Given the description of an element on the screen output the (x, y) to click on. 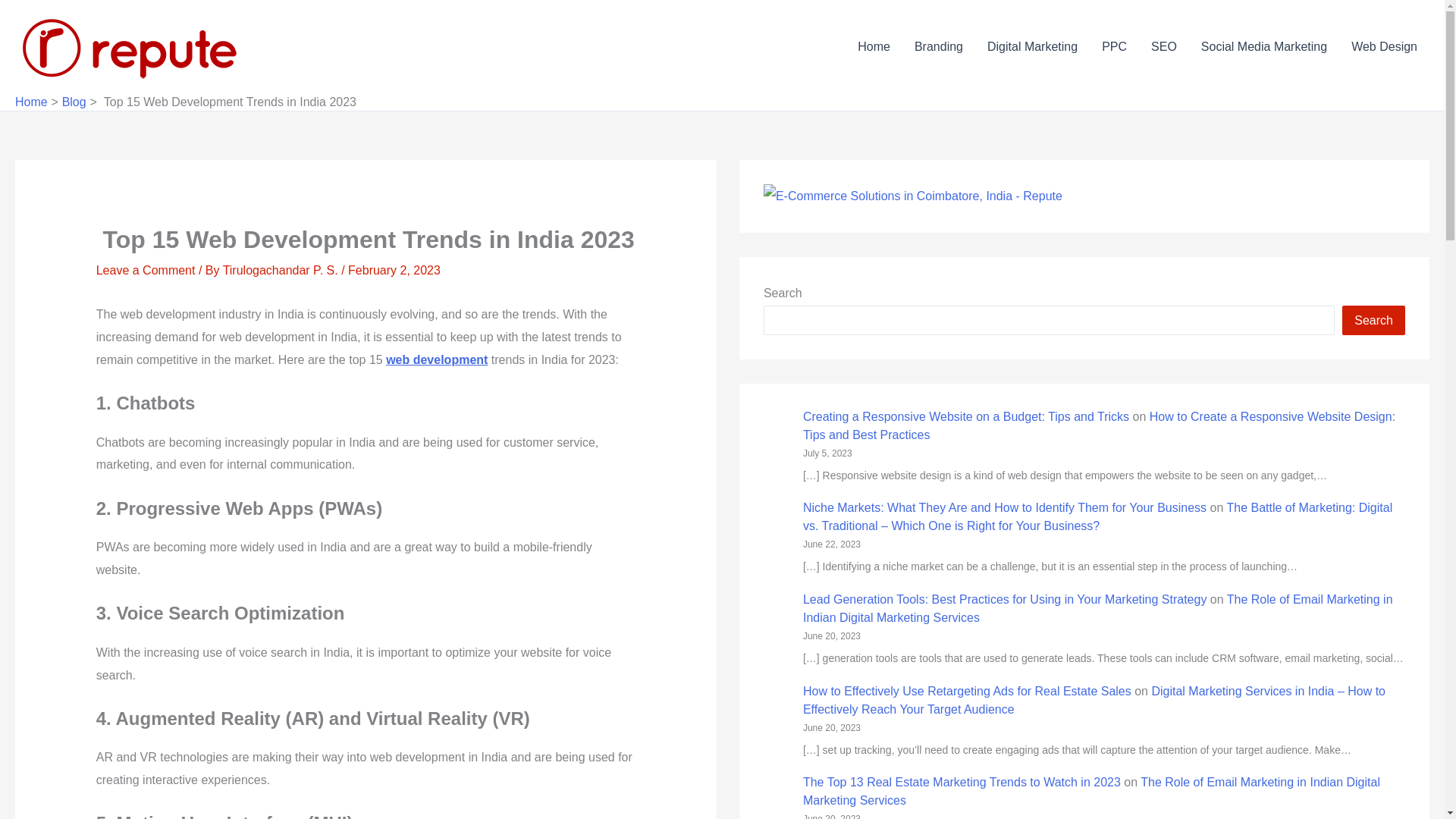
Leave a Comment (145, 269)
Home (31, 101)
Digital Marketing (1032, 46)
web development (436, 359)
Branding (938, 46)
Web Design (1384, 46)
Tirulogachandar P. S. (282, 269)
View all posts by Tirulogachandar P. S. (282, 269)
Home (873, 46)
Social Media Marketing (1264, 46)
Blog (73, 101)
